Given the description of an element on the screen output the (x, y) to click on. 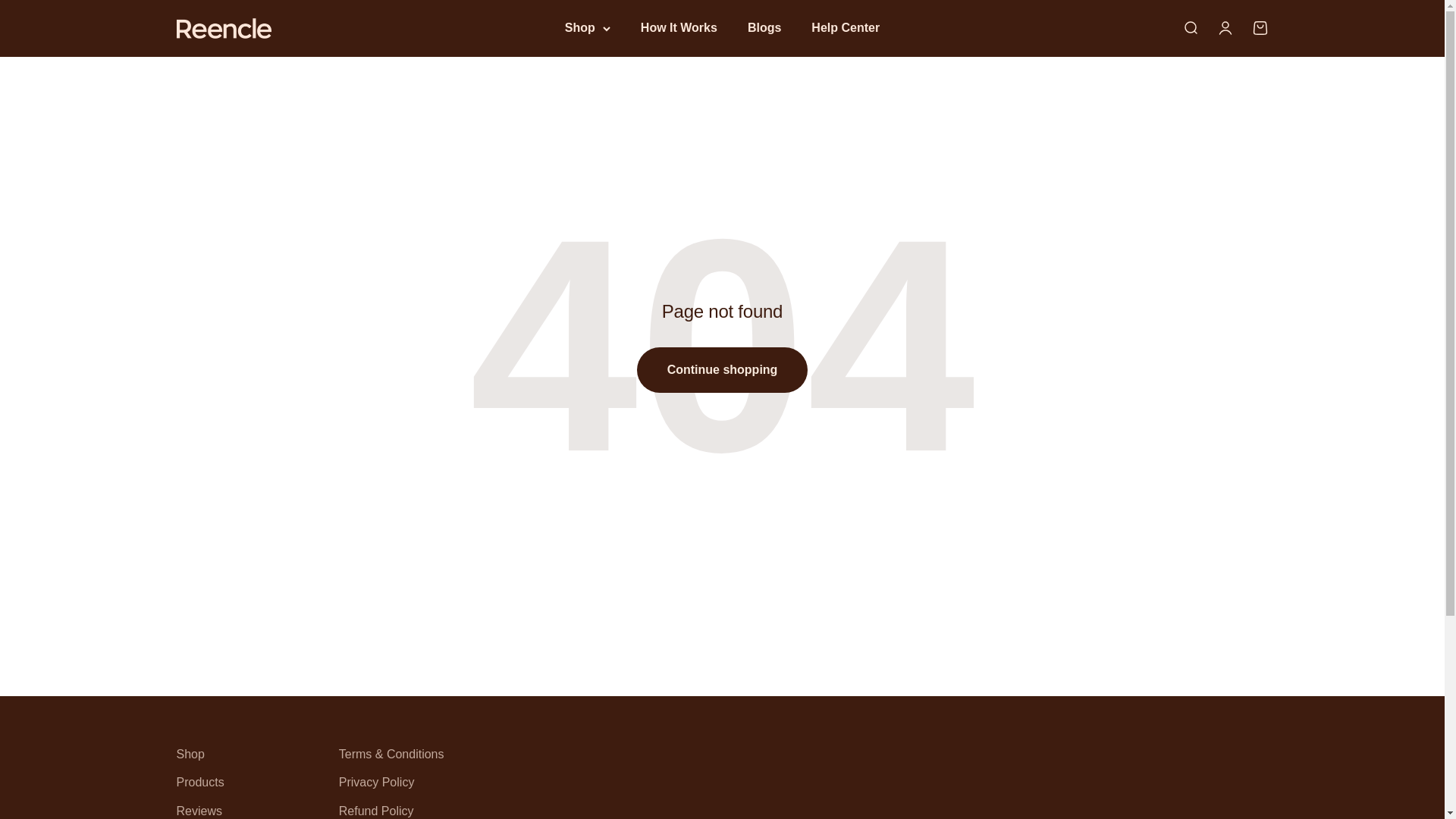
Open search (1189, 27)
reencle (223, 28)
How It Works (1259, 27)
Blogs (678, 27)
Open account page (764, 27)
Help Center (1224, 27)
